Given the description of an element on the screen output the (x, y) to click on. 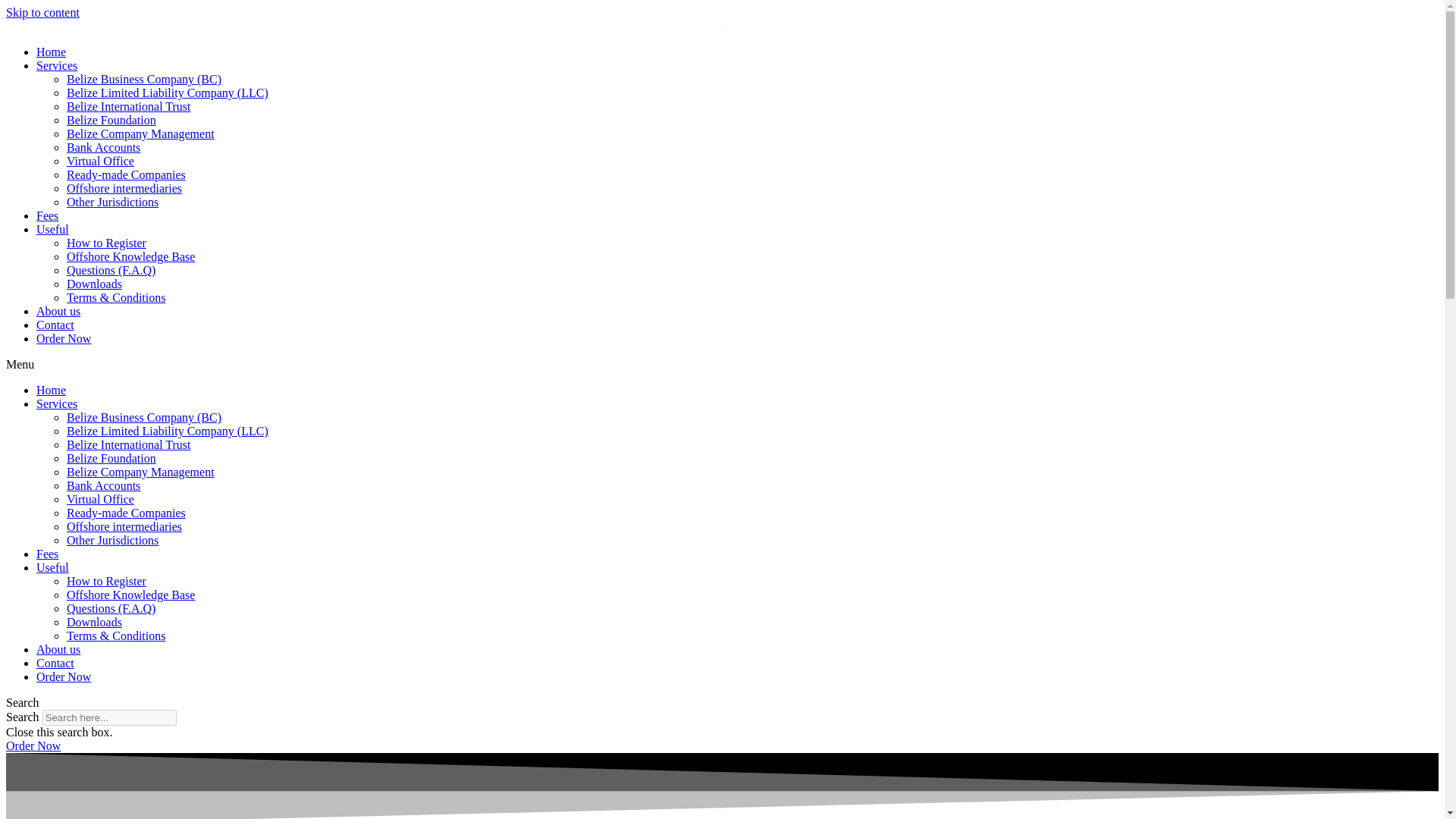
Useful (52, 228)
How to Register (106, 581)
Fees (47, 215)
Useful (52, 567)
Belize Company Management (140, 133)
Virtual Office (99, 499)
Offshore intermediaries (124, 526)
Belize Foundation (110, 458)
Belize International Trust (128, 106)
Bank Accounts (102, 485)
